Given the description of an element on the screen output the (x, y) to click on. 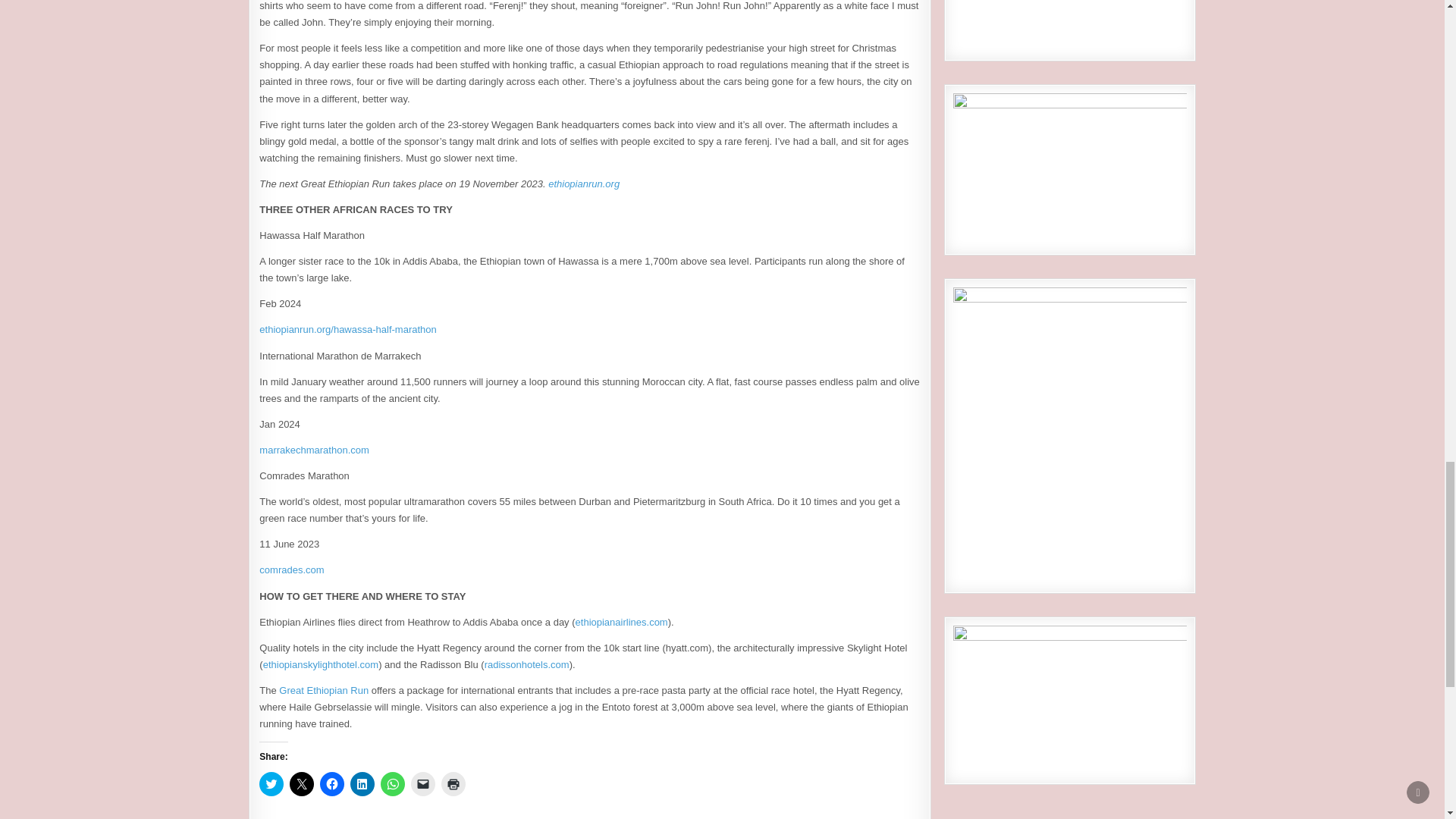
Click to share on LinkedIn (362, 784)
radissonhotels.com (526, 664)
ethiopianairlines.com (621, 622)
comrades.com (291, 569)
Click to print (453, 784)
Click to share on WhatsApp (392, 784)
Click to email a link to a friend (422, 784)
Click to share on Facebook (331, 784)
Great Ethiopian Run (323, 690)
marrakechmarathon.com (314, 449)
